Given the description of an element on the screen output the (x, y) to click on. 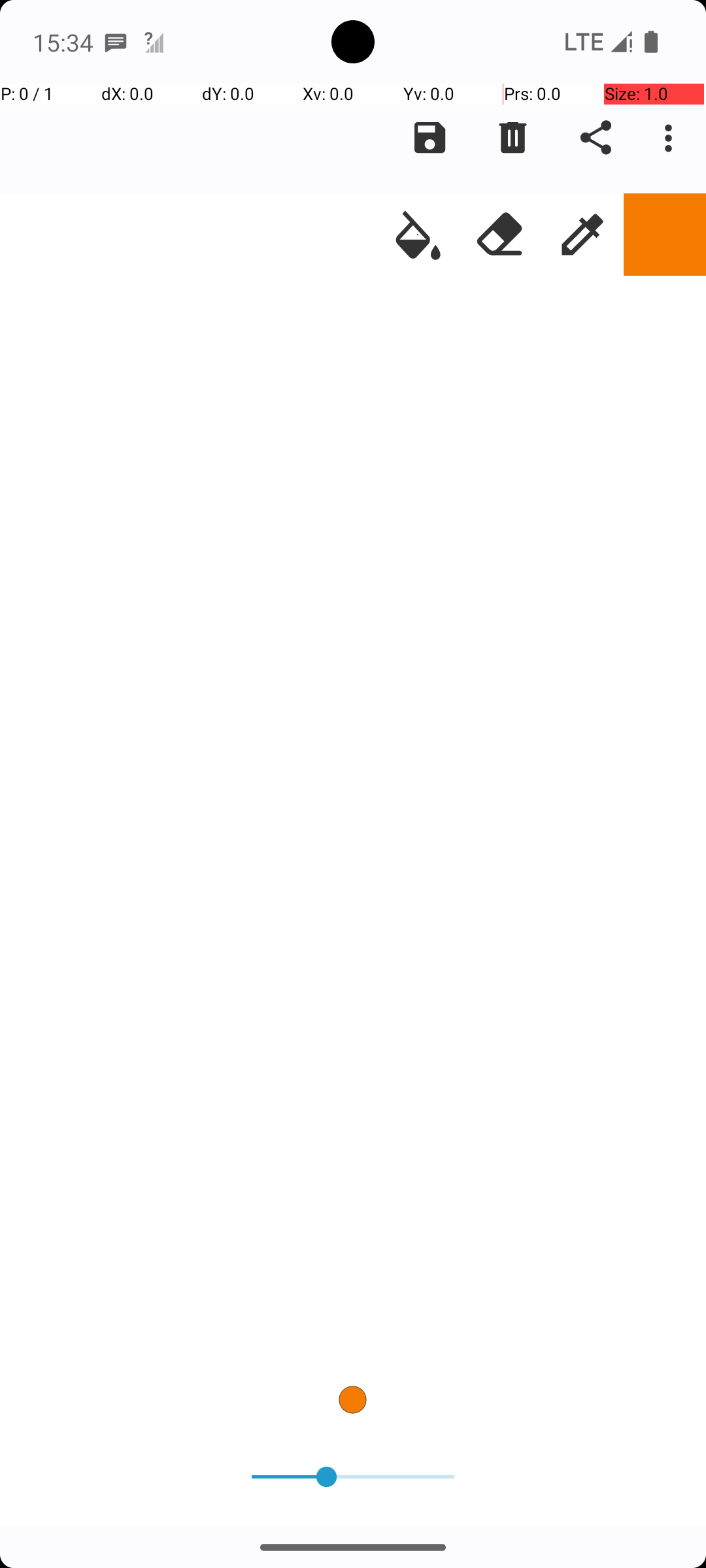
Bucket fill Element type: android.widget.ImageView (417, 234)
Eyedropper Element type: android.widget.ImageView (582, 234)
Change color Element type: android.widget.ImageView (664, 234)
